Given the description of an element on the screen output the (x, y) to click on. 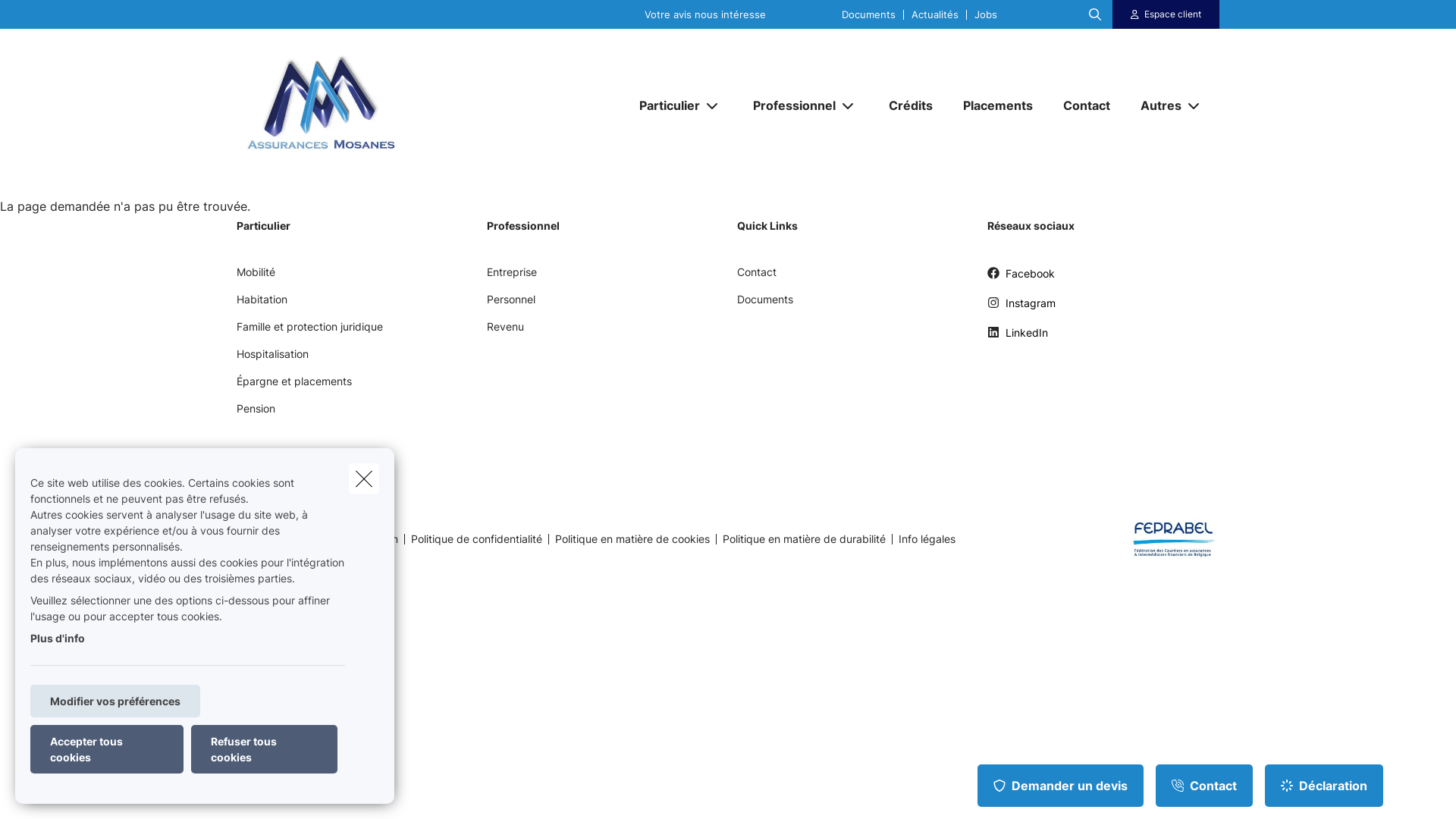
Placements Element type: text (997, 104)
Professionnel Element type: text (788, 104)
Facebook Element type: text (1020, 278)
Famille et protection juridique Element type: text (309, 331)
Habitation Element type: text (261, 304)
Espace client Element type: text (1172, 14)
Revenu Element type: text (505, 331)
Instagram Element type: text (1021, 308)
Contact Element type: text (1086, 104)
Contact Element type: text (756, 277)
Entreprise Element type: text (511, 277)
Documents Element type: text (765, 304)
Contact Element type: text (1203, 785)
Particulier Element type: text (663, 104)
Demander un devis Element type: text (1060, 785)
Documents Element type: text (868, 13)
Rechercher Element type: text (54, 18)
Autres Element type: text (1155, 104)
Personnel Element type: text (510, 304)
LinkedIn Element type: text (1017, 337)
Accepter tous cookies Element type: text (106, 748)
Plus d'info Element type: text (57, 637)
Jobs Element type: text (985, 13)
Feprabel Element type: hover (1167, 539)
Refuser tous cookies Element type: text (264, 748)
Pension Element type: text (255, 413)
Espace client Element type: text (1165, 14)
Hospitalisation Element type: text (272, 359)
